Given the description of an element on the screen output the (x, y) to click on. 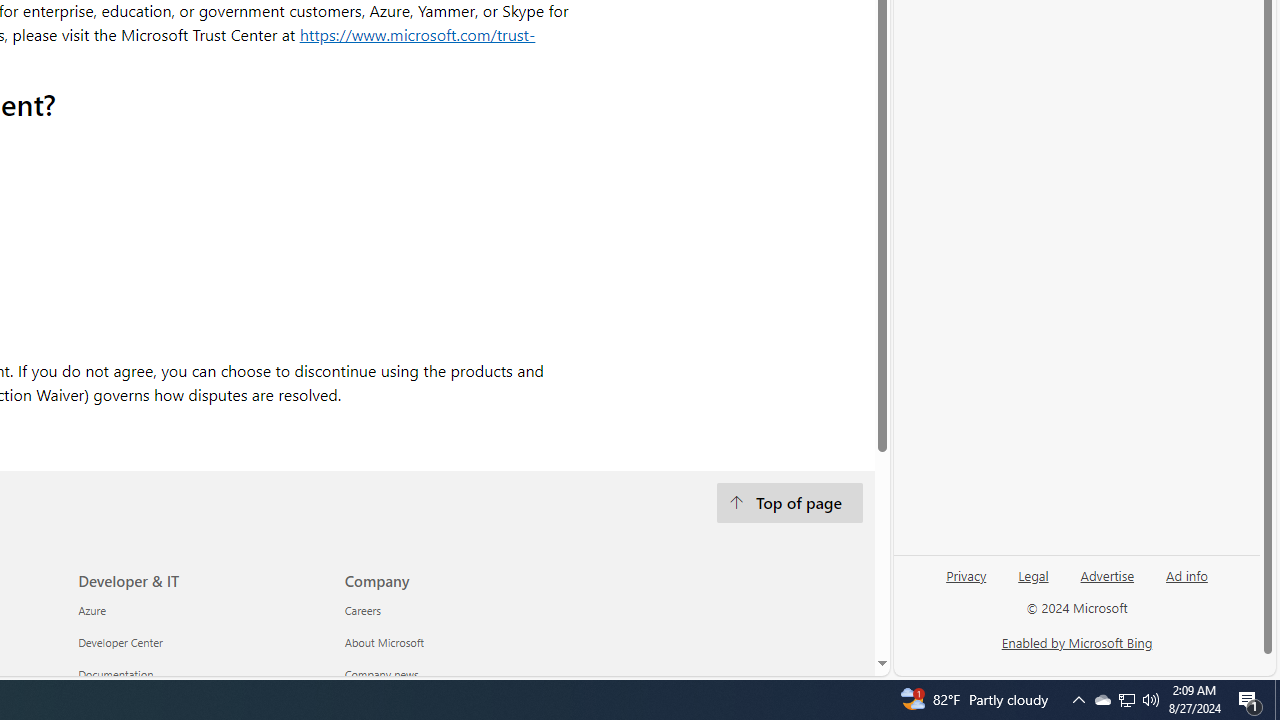
About Microsoft (465, 643)
Company news Company (381, 674)
Developer Center (199, 643)
About Microsoft Company (383, 642)
Careers Company (362, 611)
Azure Developer & IT (92, 611)
Developer Center Developer & IT (120, 642)
Documentation (199, 674)
